Given the description of an element on the screen output the (x, y) to click on. 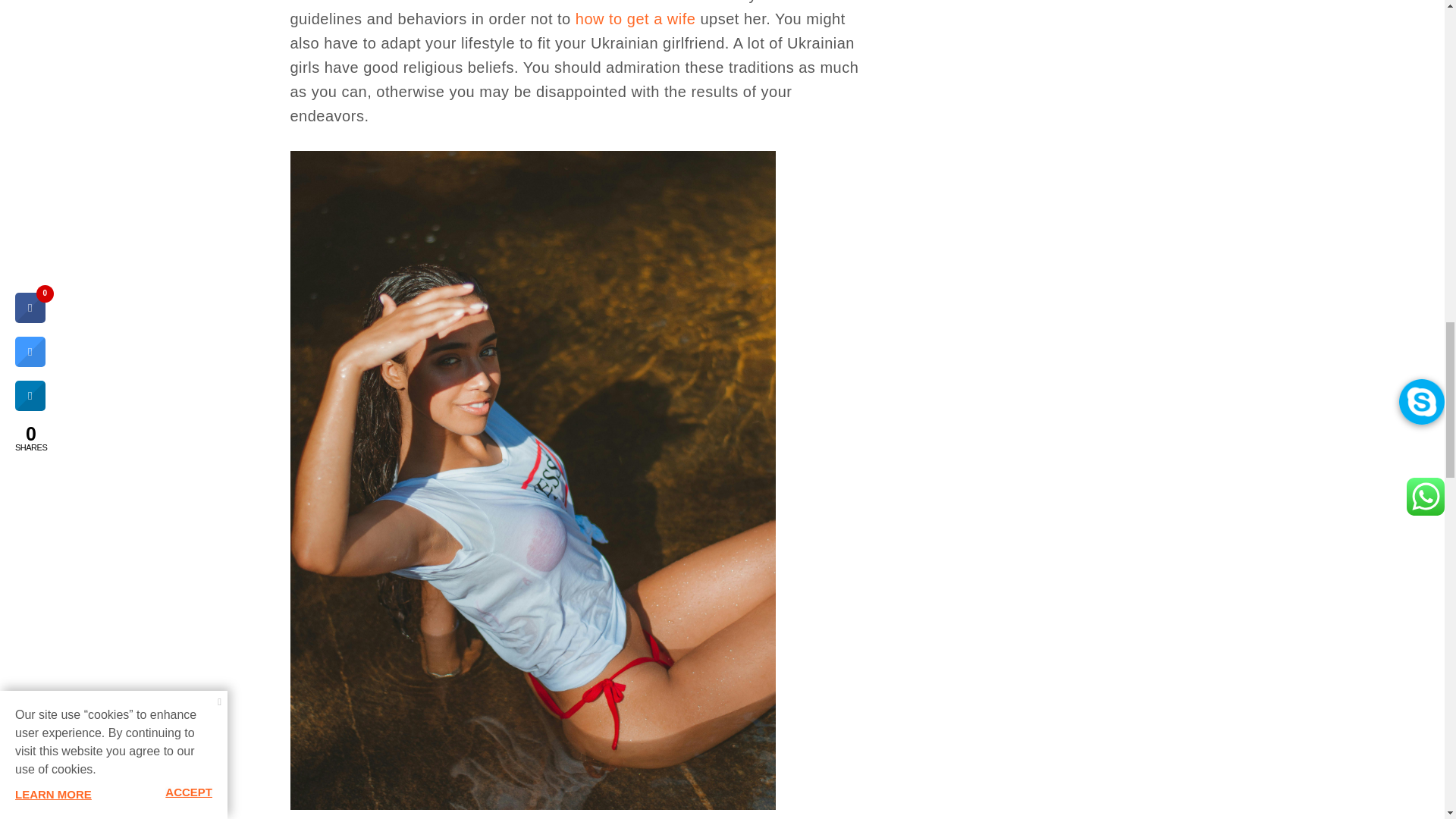
how to get a wife (635, 18)
